Given the description of an element on the screen output the (x, y) to click on. 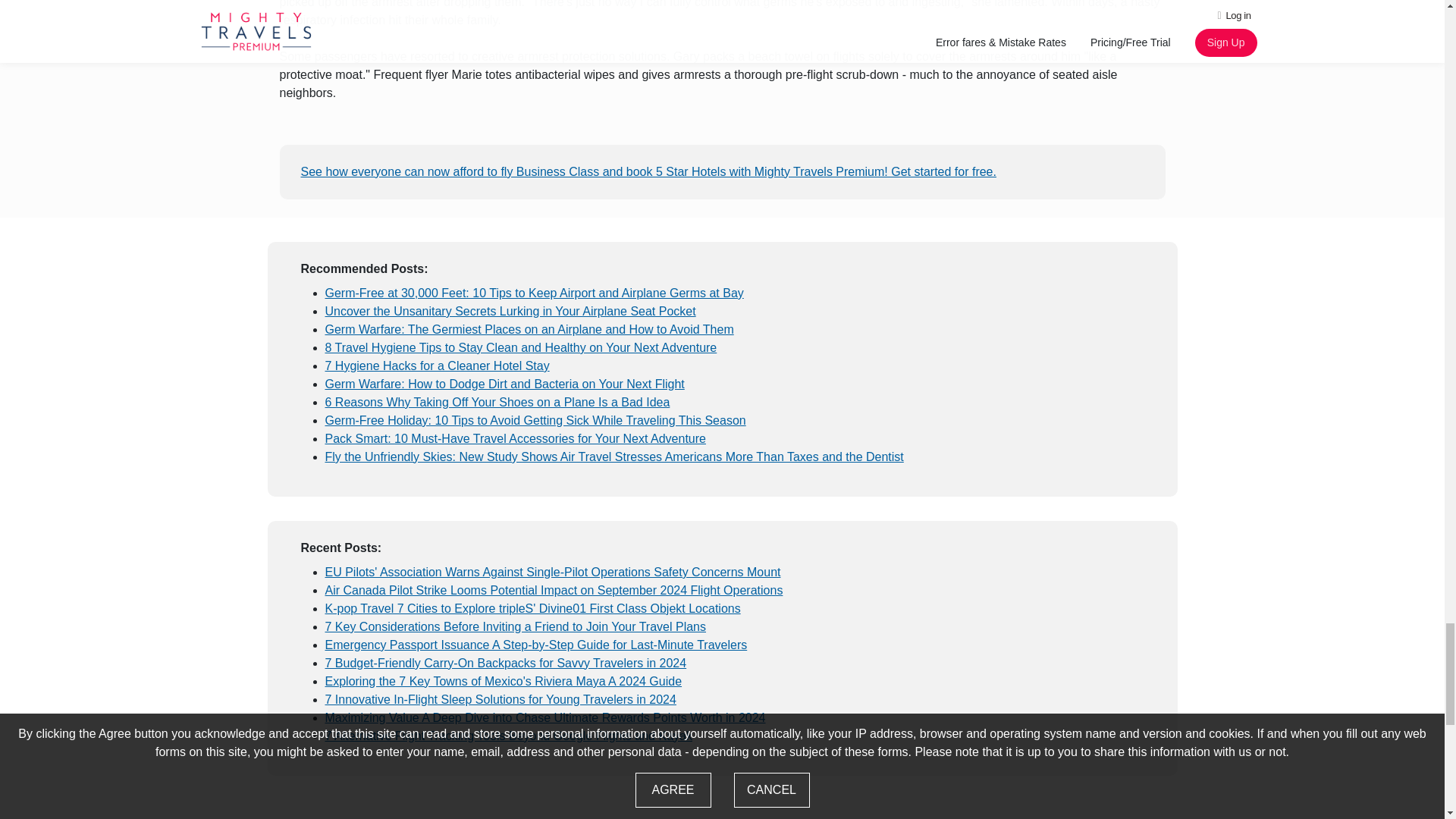
6 Reasons Why Taking Off Your Shoes on a Plane Is a Bad Idea (496, 401)
7 Hygiene Hacks for a Cleaner Hotel Stay (436, 365)
